Given the description of an element on the screen output the (x, y) to click on. 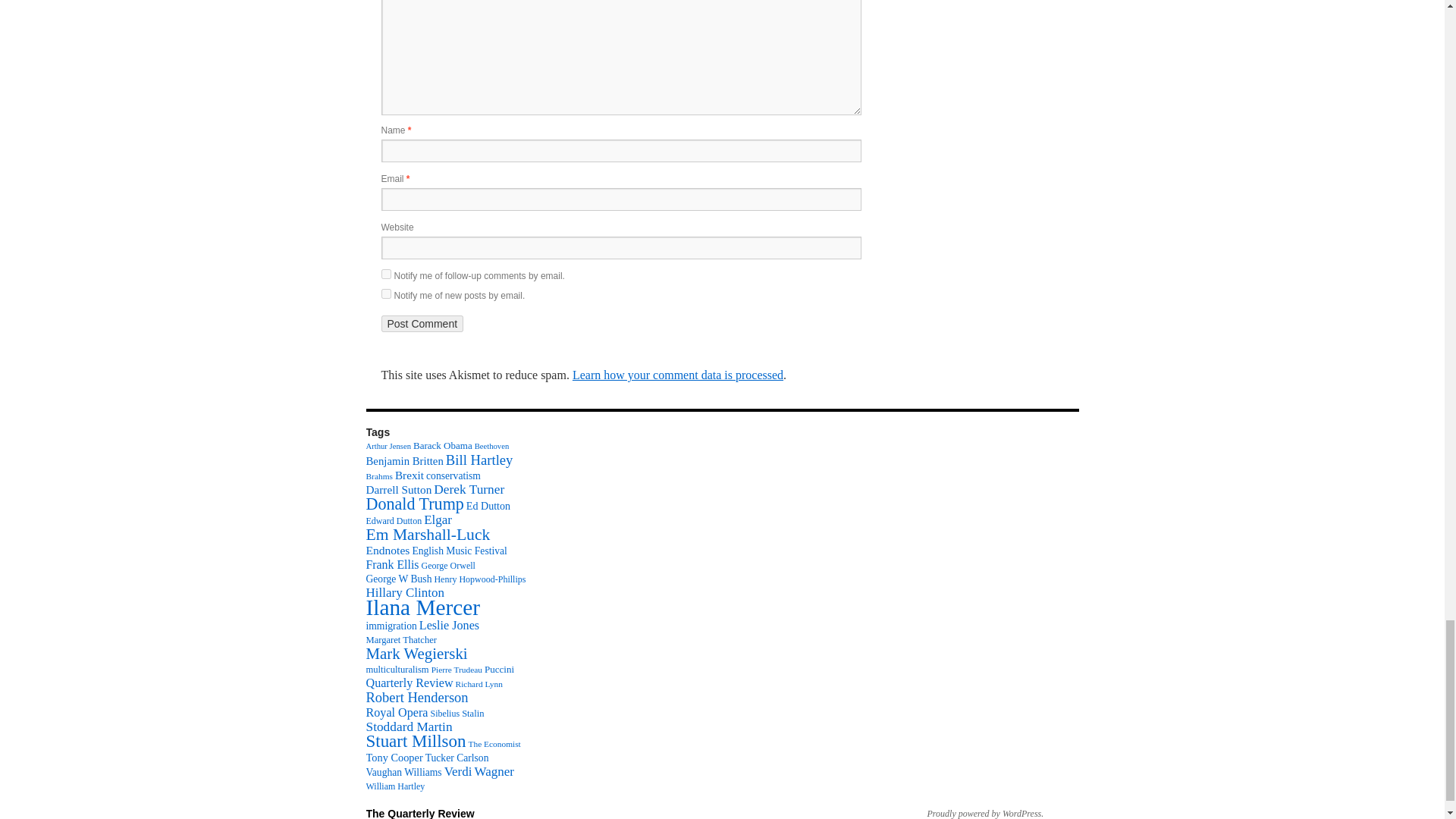
Learn how your comment data is processed (677, 374)
Post Comment (421, 323)
subscribe (385, 274)
Post Comment (421, 323)
subscribe (385, 293)
